Given the description of an element on the screen output the (x, y) to click on. 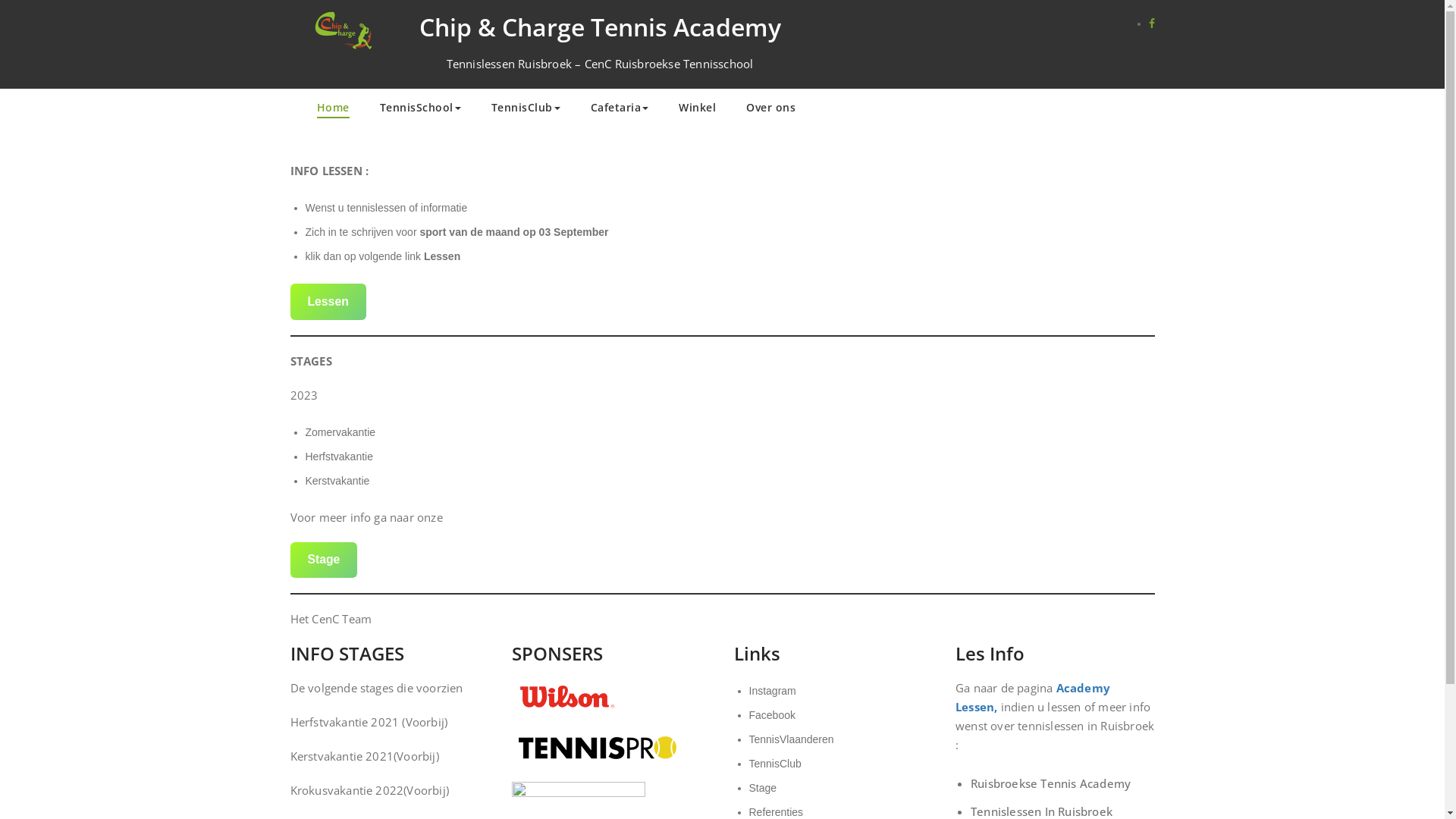
Instagram Element type: text (772, 690)
TennisVlaanderen Element type: text (791, 739)
Academy Lessen, Element type: text (1032, 697)
Facebook Element type: text (772, 715)
TennisClub Element type: text (775, 763)
Cafetaria Element type: text (618, 108)
Winkel Element type: text (697, 108)
Lessen Element type: text (441, 256)
Lessen Element type: text (327, 301)
TennisSchool Element type: text (419, 108)
Stage Element type: text (763, 787)
Stage Element type: text (323, 559)
TennisClub Element type: text (525, 108)
Over ons Element type: text (770, 108)
Home Element type: text (332, 108)
Chip & Charge Tennis Academy Element type: text (599, 27)
Referenties Element type: text (776, 812)
